Given the description of an element on the screen output the (x, y) to click on. 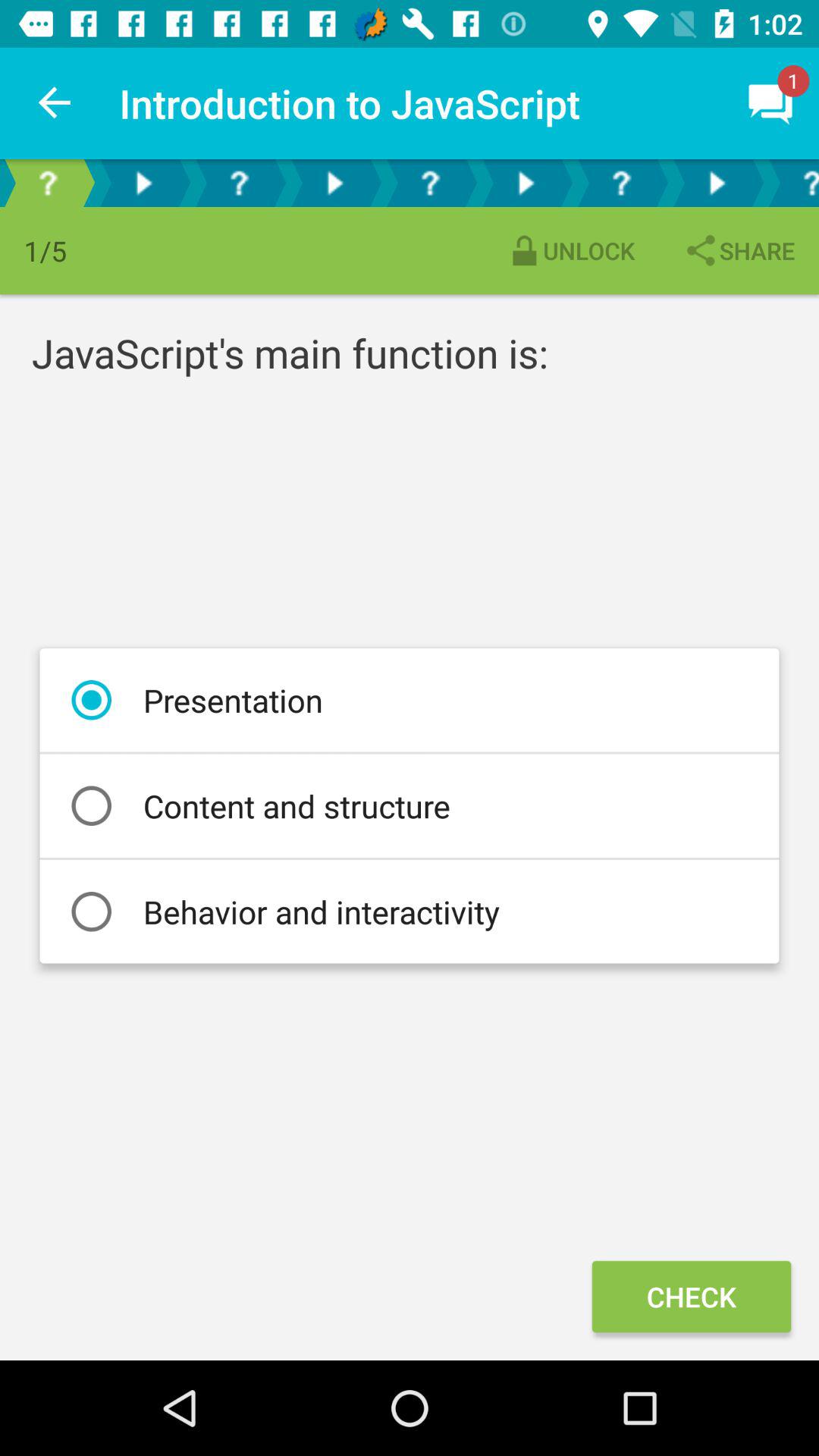
go to selected tab (791, 183)
